Given the description of an element on the screen output the (x, y) to click on. 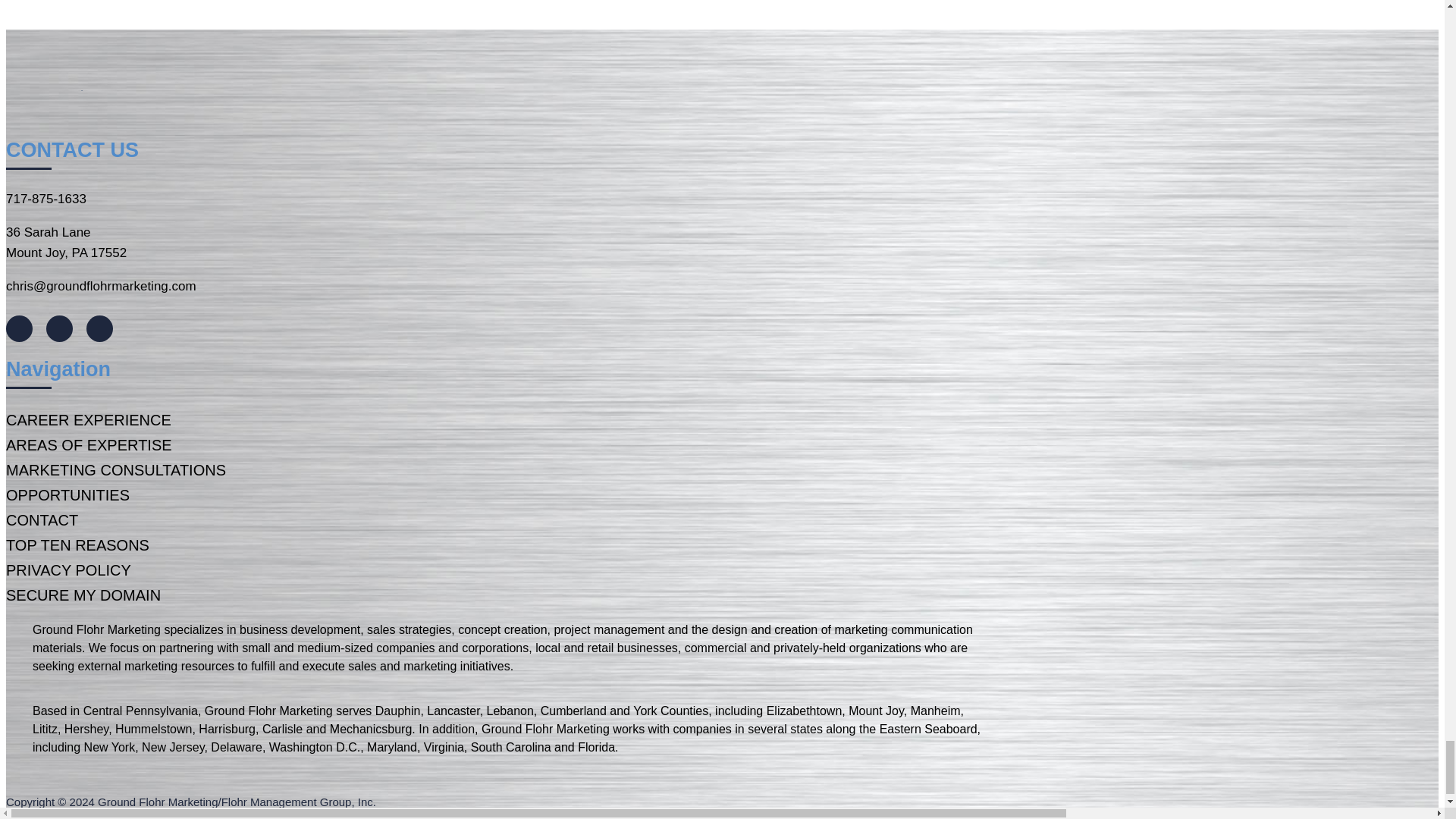
SECURE MY DOMAIN (82, 595)
AREAS OF EXPERTISE (88, 444)
CONTACT (41, 519)
TOP TEN REASONS (77, 545)
MARKETING CONSULTATIONS (115, 469)
CAREER EXPERIENCE (88, 419)
PRIVACY POLICY (68, 569)
717-875-1633 (45, 198)
OPPORTUNITIES (67, 494)
